Given the description of an element on the screen output the (x, y) to click on. 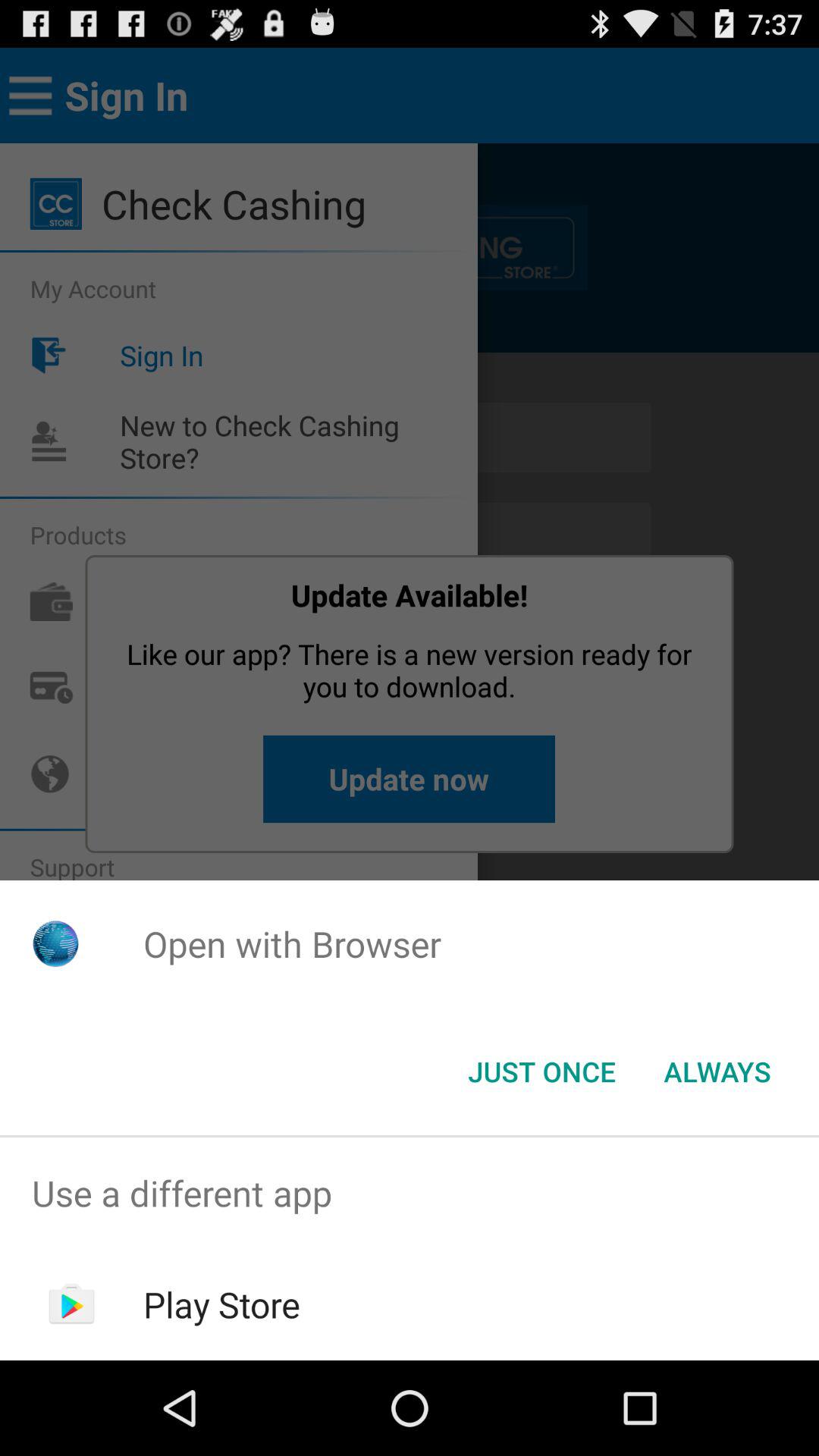
press use a different icon (409, 1192)
